Given the description of an element on the screen output the (x, y) to click on. 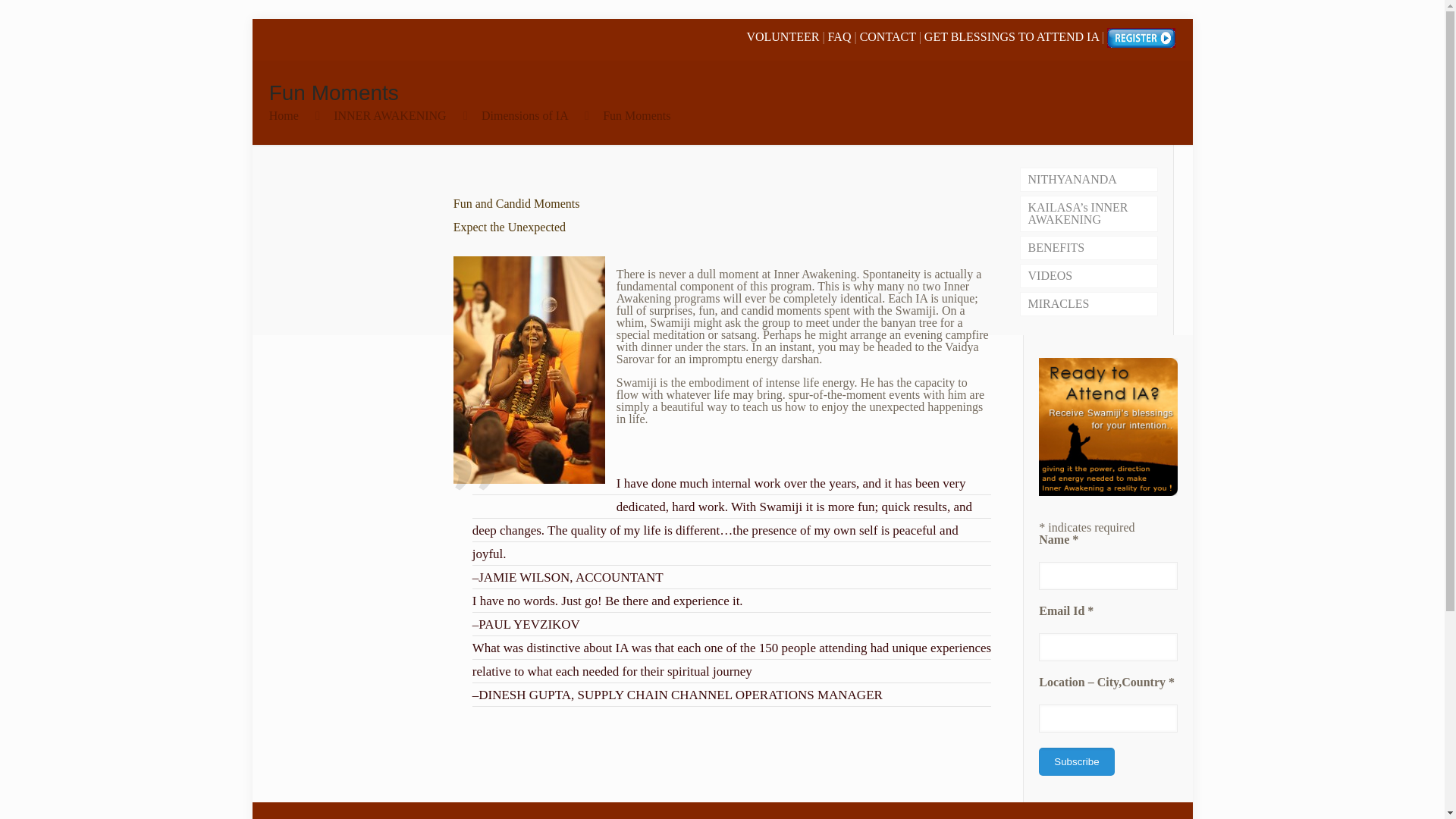
FAQ (839, 36)
CONTACT (887, 36)
Subscribe (1076, 761)
VOLUNTEER (781, 36)
GET BLESSINGS TO ATTEND IA (1011, 36)
